Given the description of an element on the screen output the (x, y) to click on. 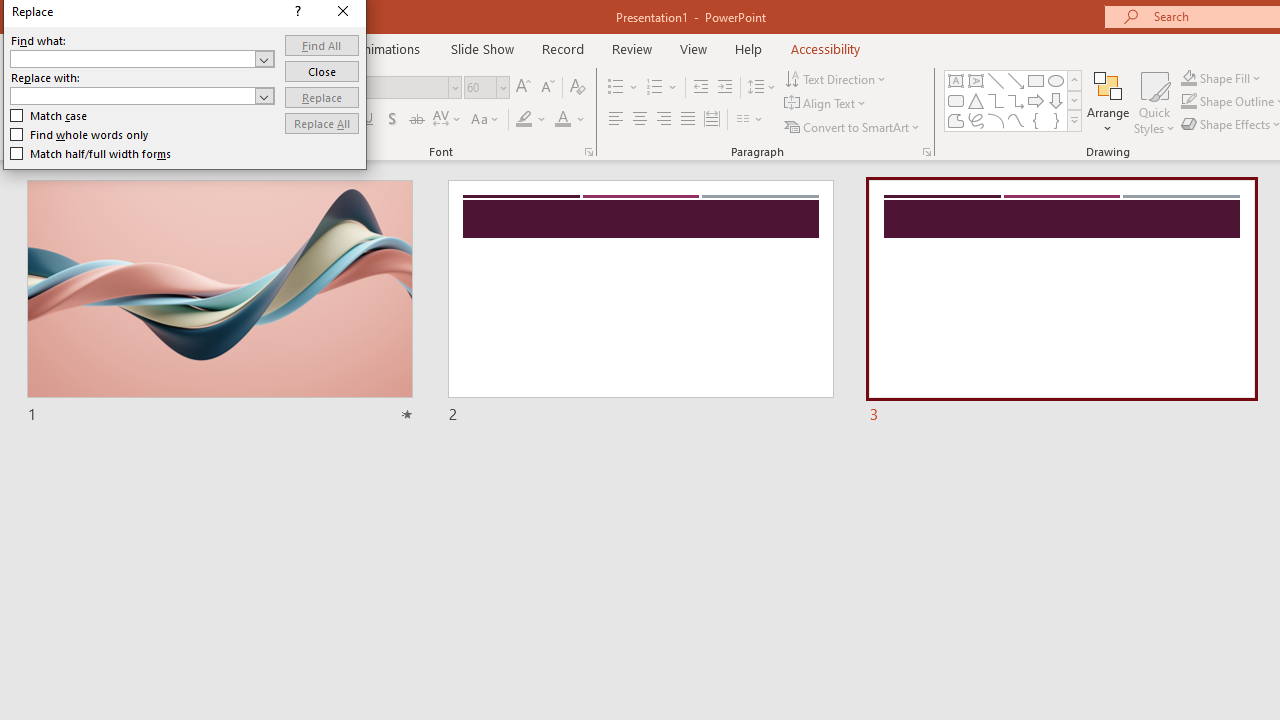
Isosceles Triangle (975, 100)
Match case (49, 115)
Shadow (392, 119)
